Given the description of an element on the screen output the (x, y) to click on. 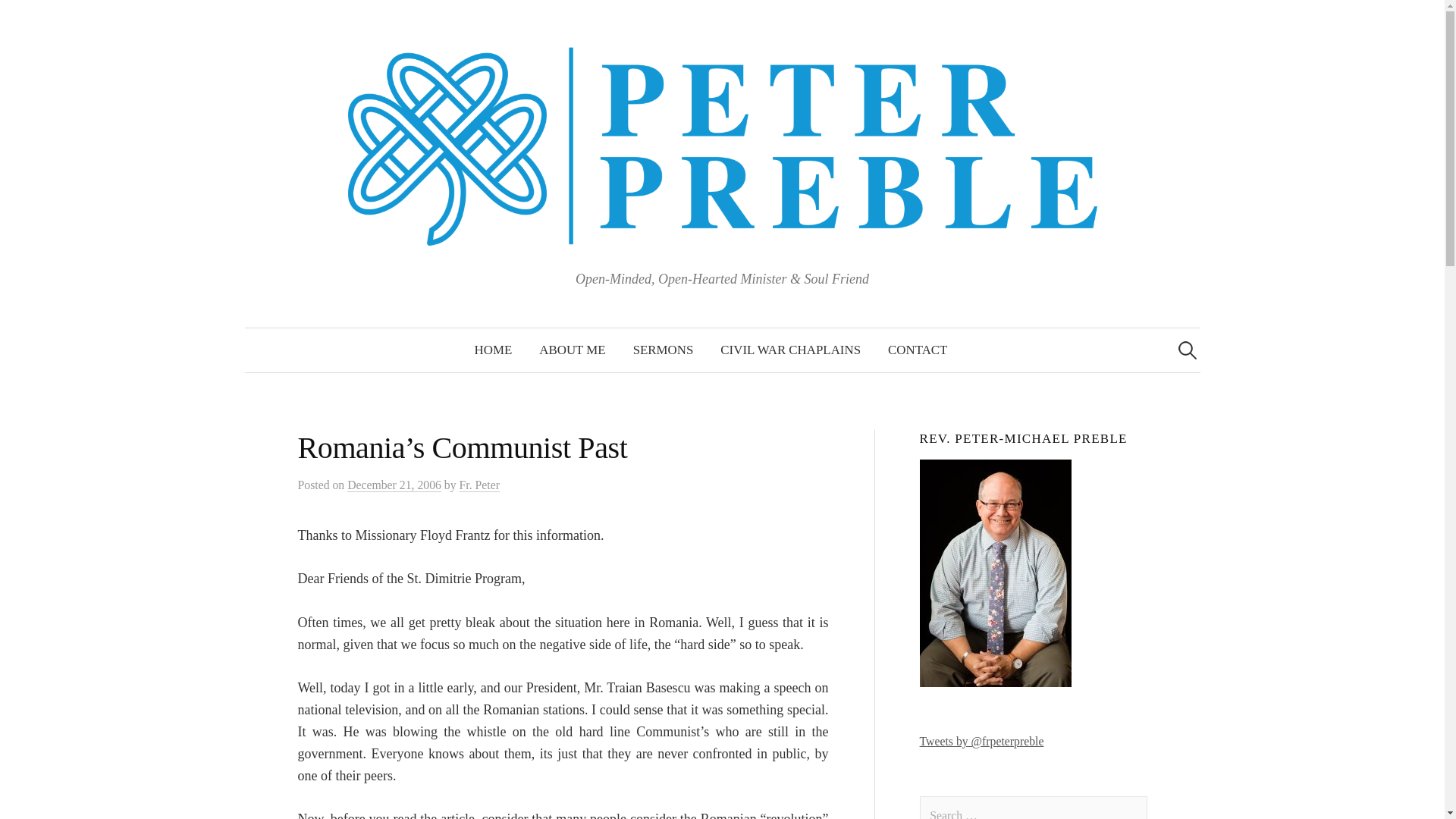
CIVIL WAR CHAPLAINS (790, 350)
HOME (493, 350)
Search (40, 18)
Fr. Peter (479, 485)
December 21, 2006 (394, 485)
ABOUT ME (571, 350)
View all posts by Fr. Peter (479, 485)
Search (18, 18)
CONTACT (917, 350)
SERMONS (663, 350)
